Given the description of an element on the screen output the (x, y) to click on. 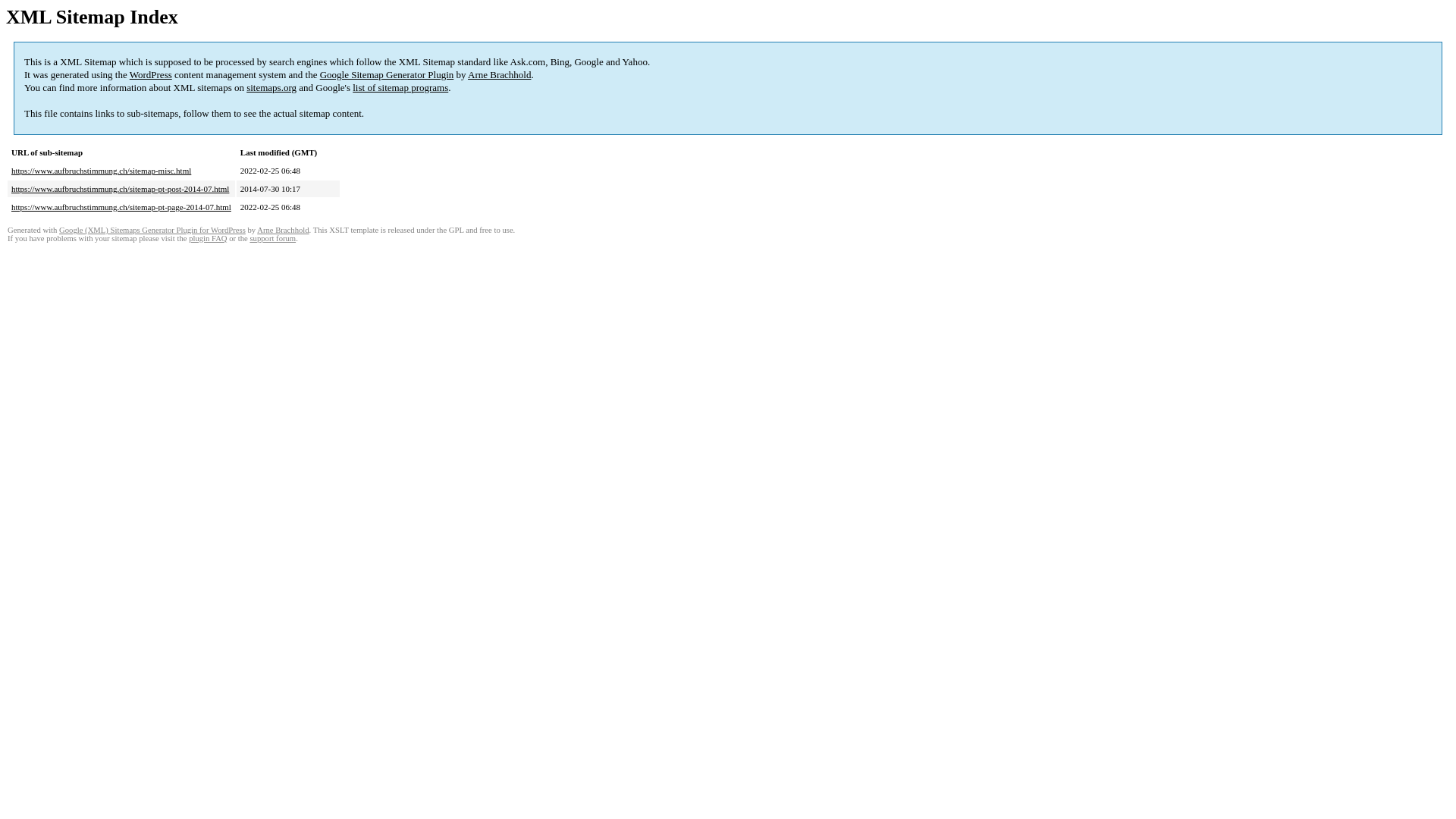
https://www.aufbruchstimmung.ch/sitemap-pt-page-2014-07.html Element type: text (121, 206)
list of sitemap programs Element type: text (400, 87)
https://www.aufbruchstimmung.ch/sitemap-pt-post-2014-07.html Element type: text (120, 188)
Google Sitemap Generator Plugin Element type: text (387, 74)
Arne Brachhold Element type: text (498, 74)
WordPress Element type: text (150, 74)
plugin FAQ Element type: text (207, 238)
sitemaps.org Element type: text (271, 87)
support forum Element type: text (272, 238)
https://www.aufbruchstimmung.ch/sitemap-misc.html Element type: text (101, 170)
Google (XML) Sitemaps Generator Plugin for WordPress Element type: text (152, 229)
Arne Brachhold Element type: text (282, 229)
